Given the description of an element on the screen output the (x, y) to click on. 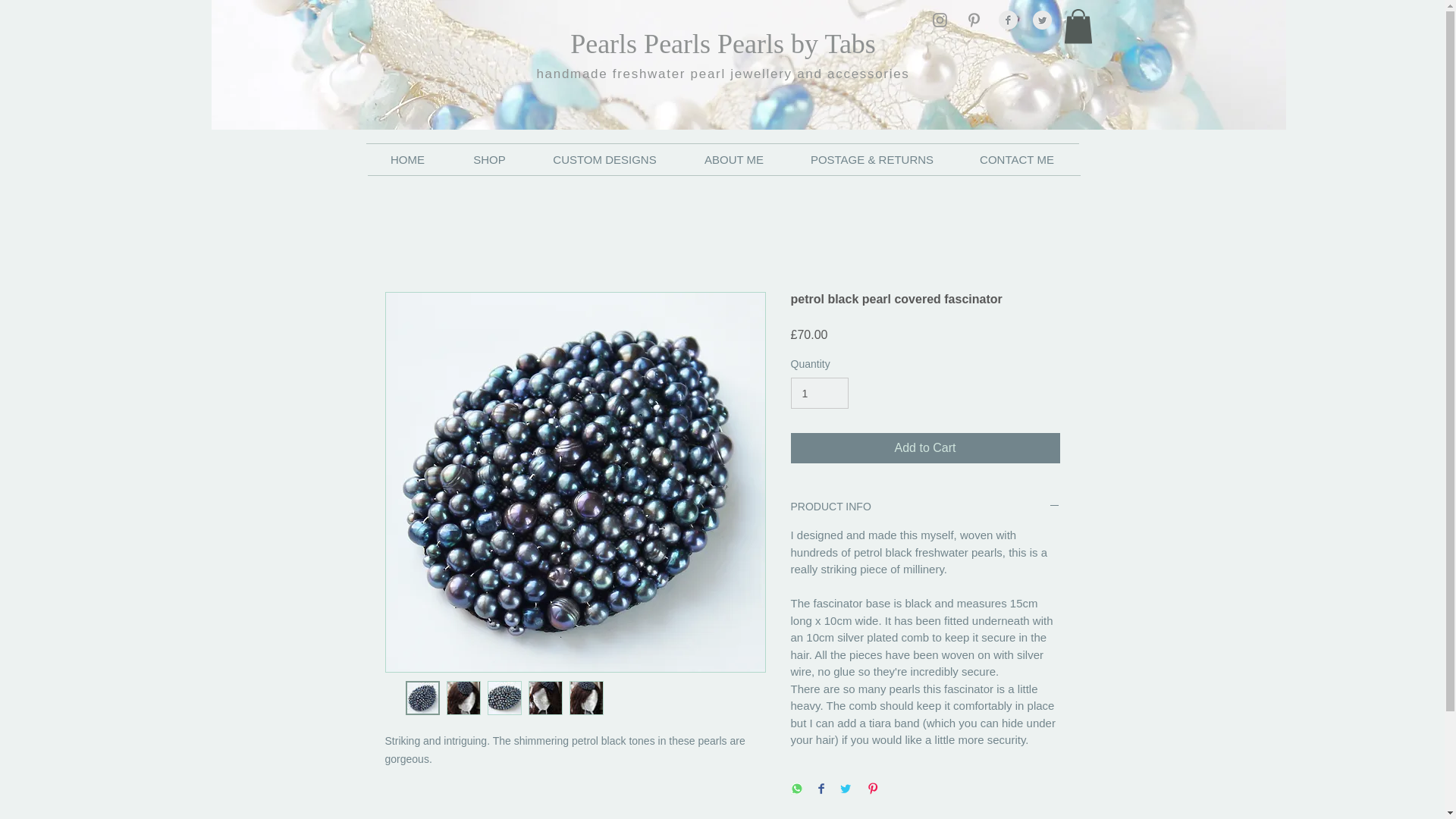
CUSTOM DESIGNS (604, 159)
Add to Cart (924, 448)
ABOUT ME (733, 159)
PRODUCT INFO (924, 506)
CONTACT ME (1016, 159)
HOME (406, 159)
1 (818, 392)
Facebook Like (394, 17)
